Given the description of an element on the screen output the (x, y) to click on. 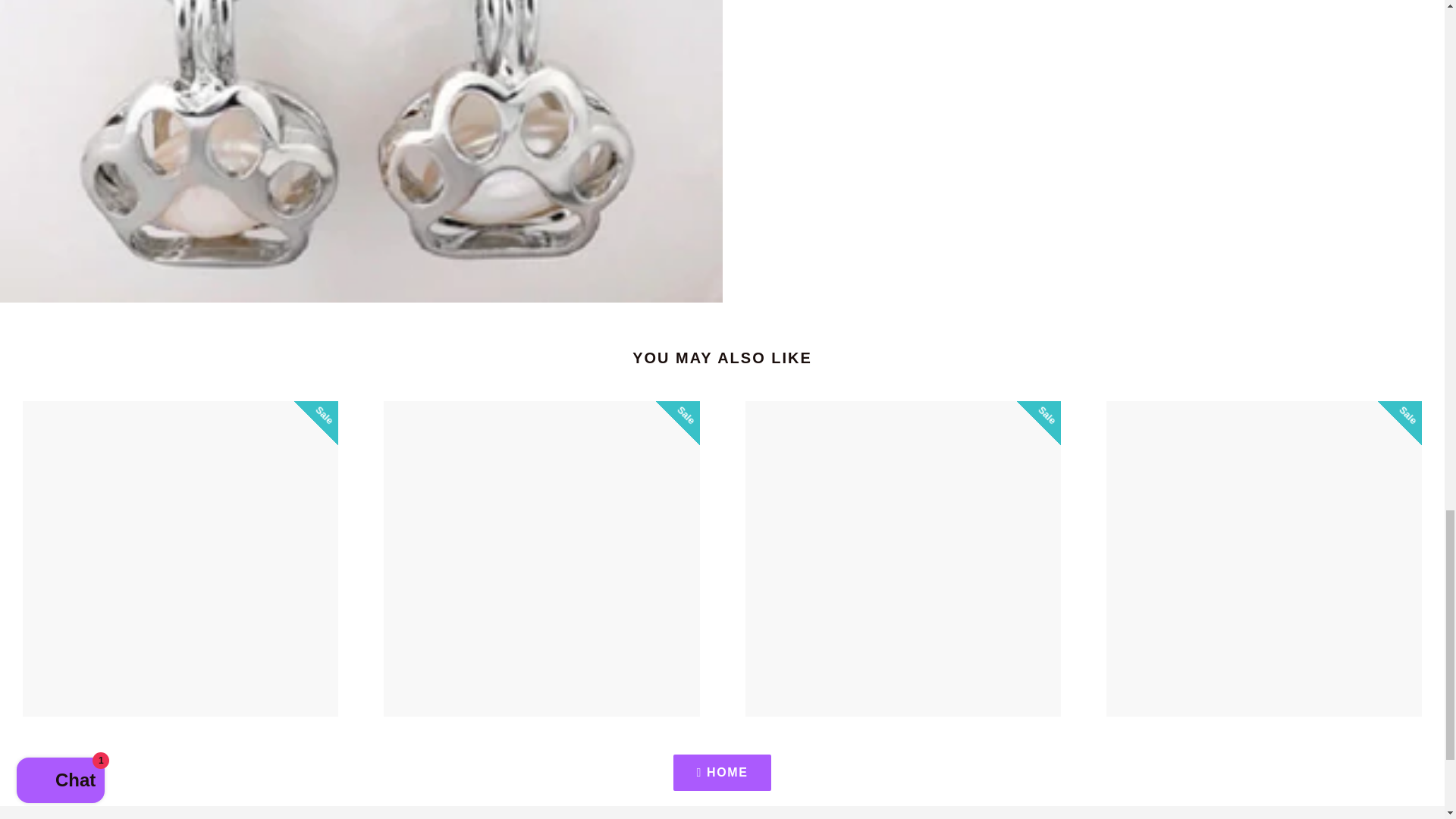
Sale (180, 558)
